Given the description of an element on the screen output the (x, y) to click on. 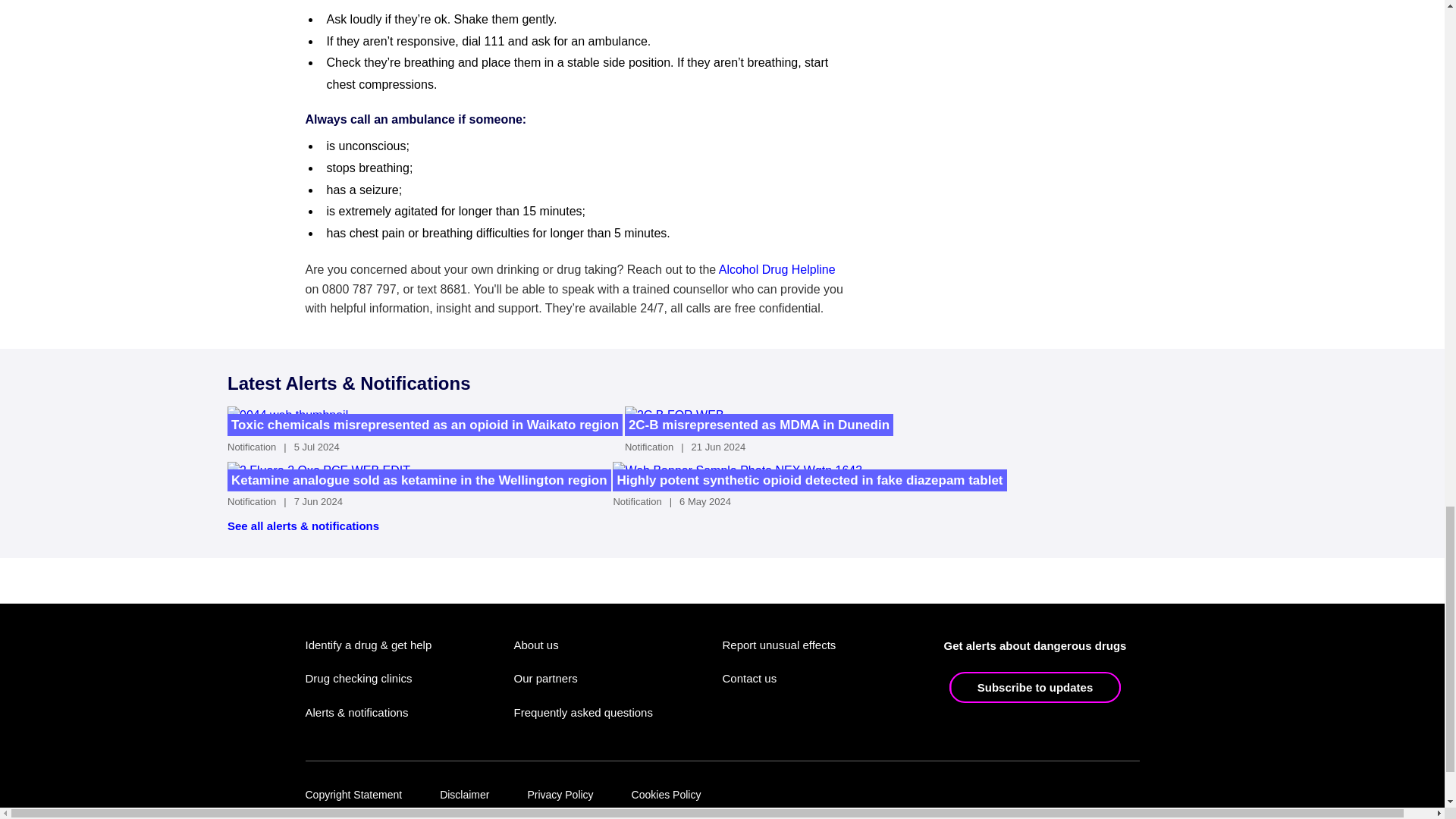
Alcohol Drug Helpline (777, 269)
